Given the description of an element on the screen output the (x, y) to click on. 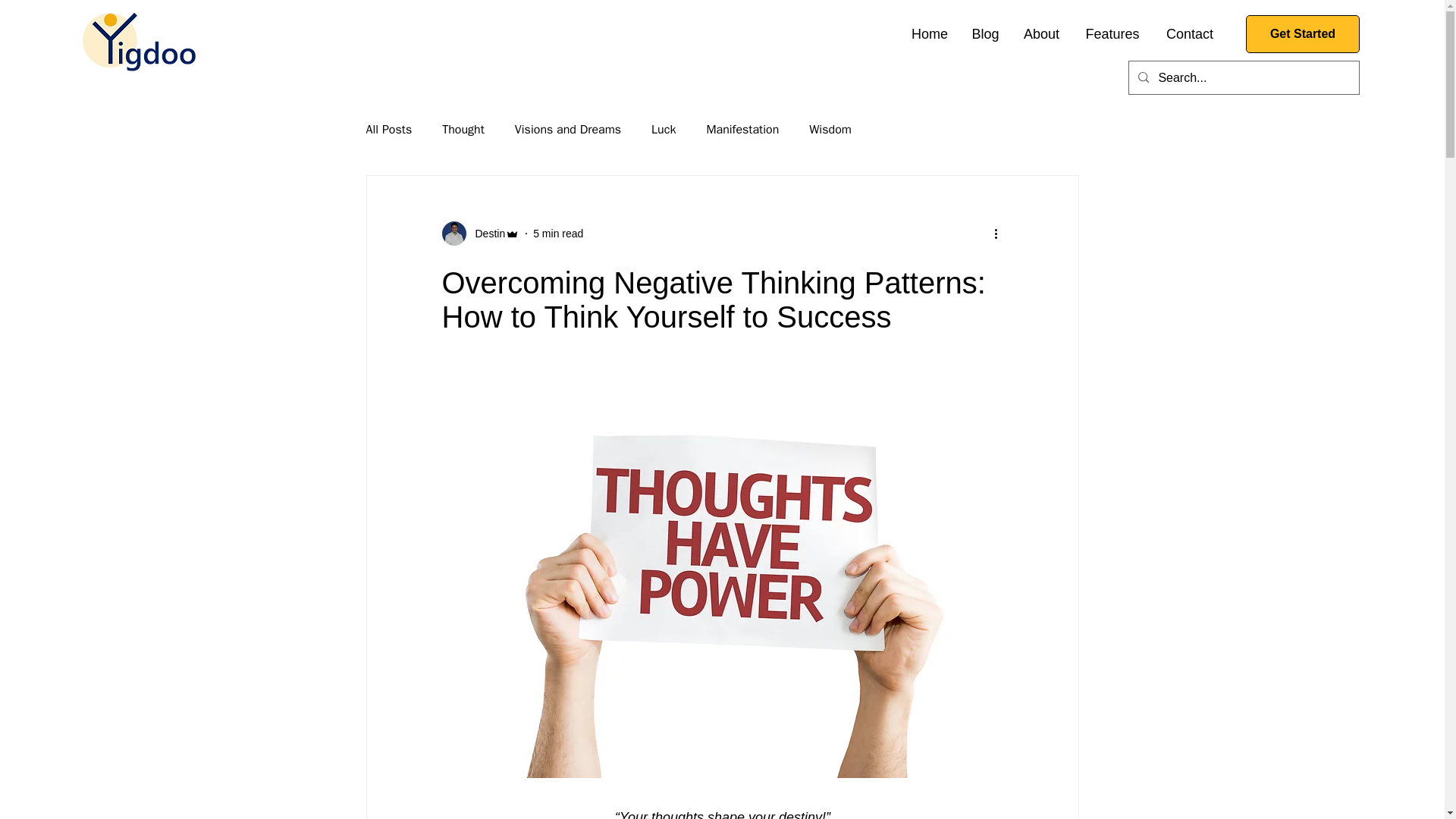
Visions and Dreams (568, 129)
Manifestation (742, 129)
Home (929, 34)
Features (1112, 34)
Destin (480, 233)
Contact (1190, 34)
Destin (485, 233)
Thought (463, 129)
Luck (662, 129)
About (1040, 34)
